Given the description of an element on the screen output the (x, y) to click on. 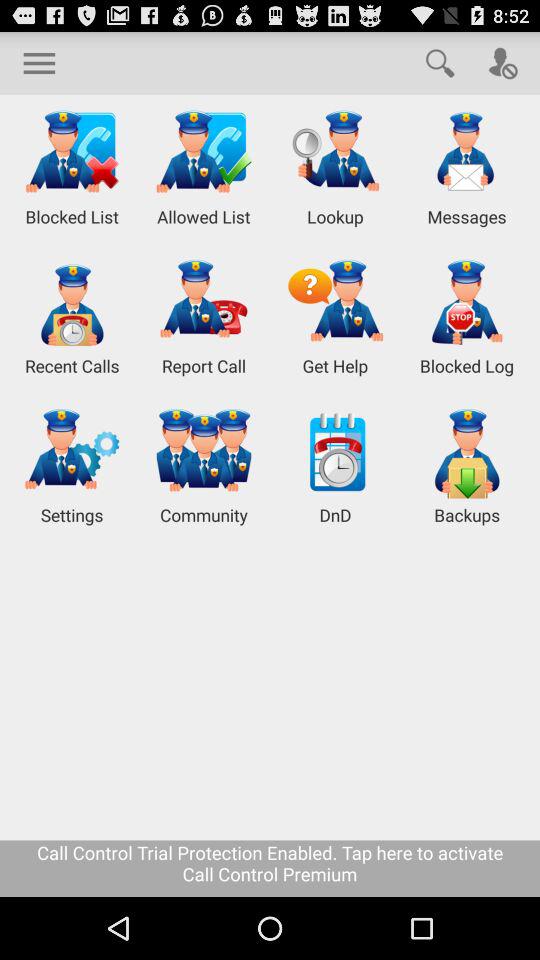
sitting (39, 62)
